Given the description of an element on the screen output the (x, y) to click on. 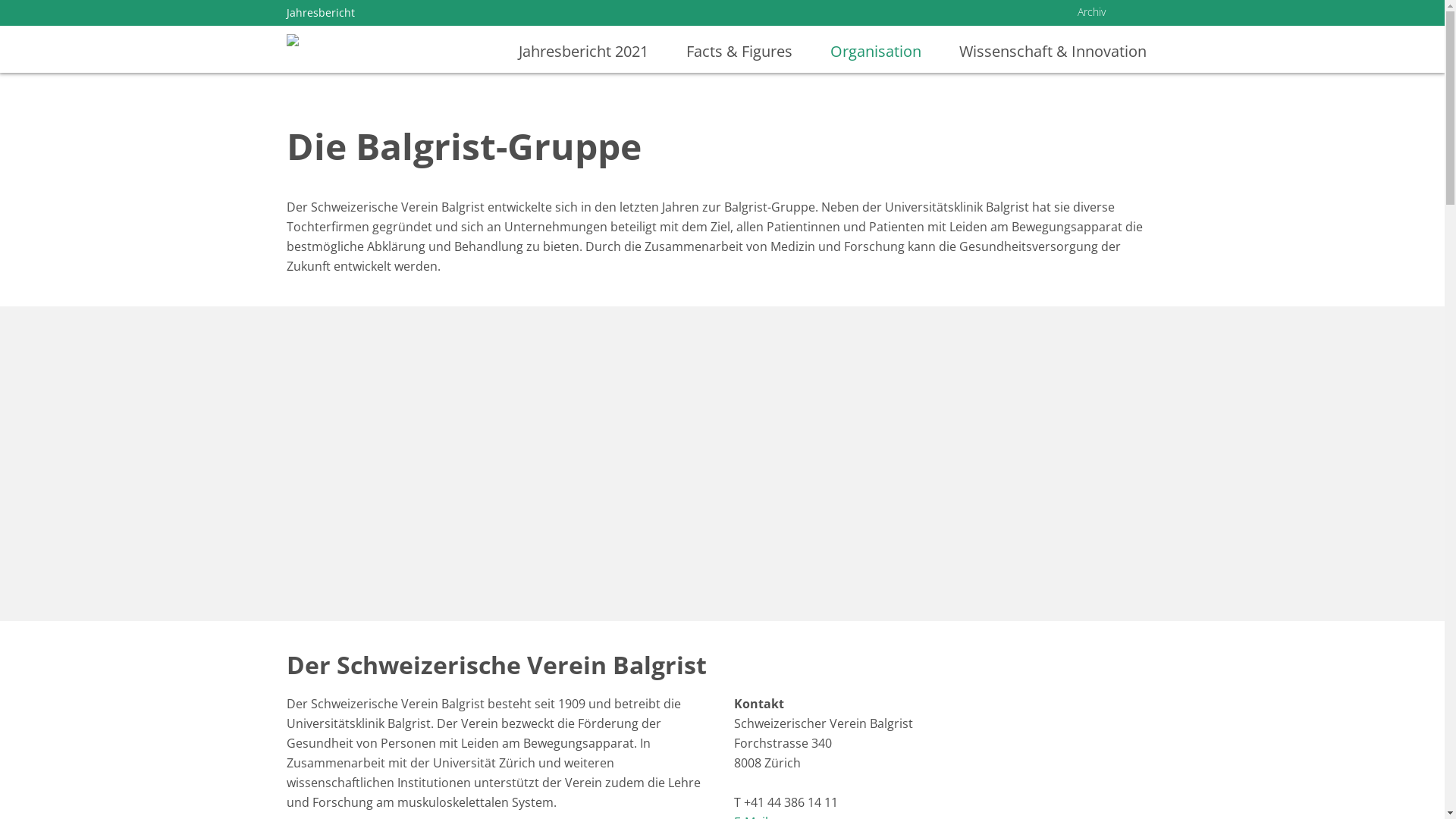
Facts & Figures Element type: text (743, 57)
Jahresbericht 2021 Element type: text (587, 57)
Wissenschaft & Innovation Element type: text (1045, 57)
Organisation Element type: text (879, 57)
Archiv Element type: text (1090, 14)
